Given the description of an element on the screen output the (x, y) to click on. 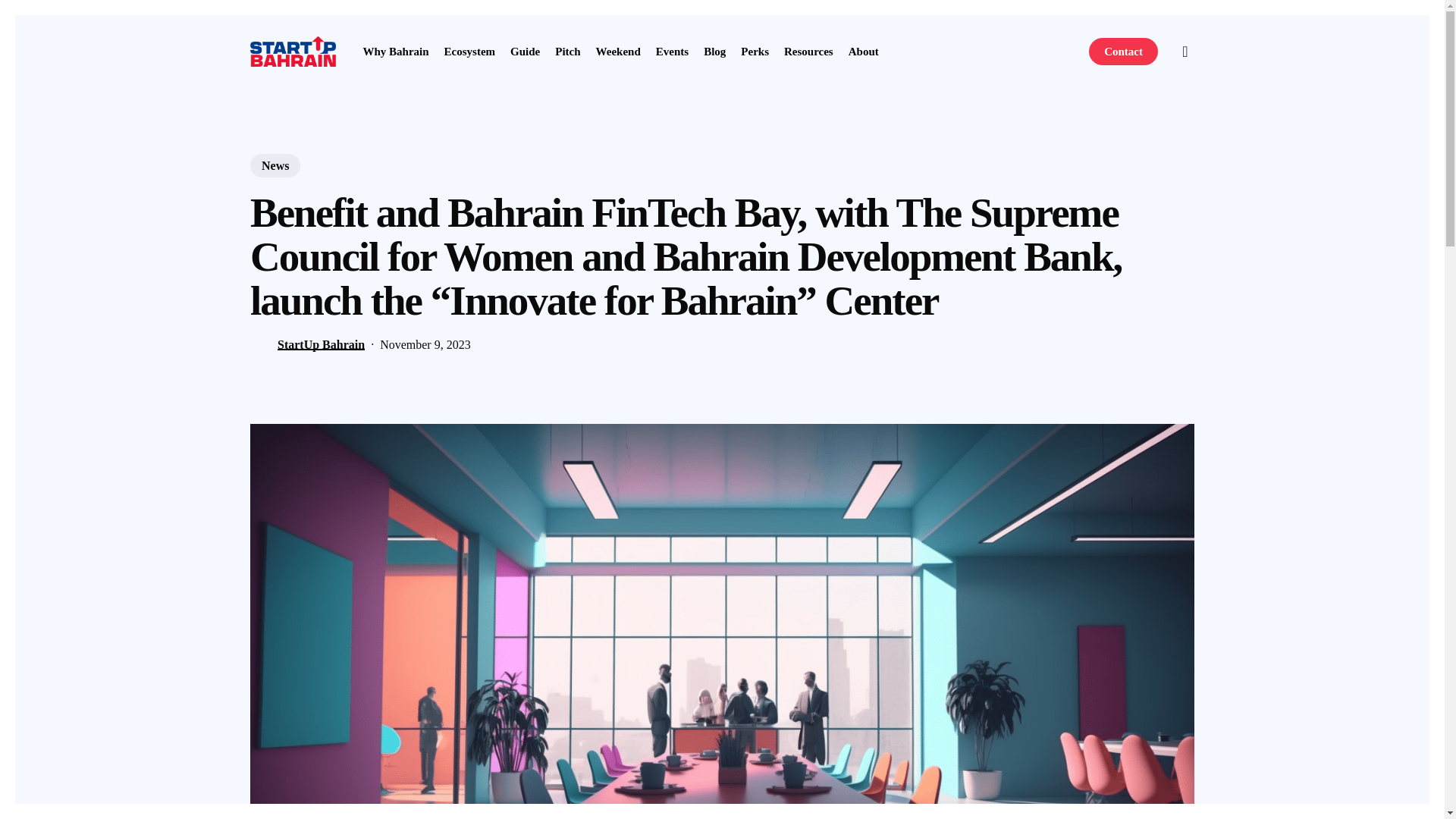
Blog (714, 50)
Contact (1123, 50)
News (274, 165)
Why Bahrain (395, 50)
Resources (808, 50)
About (863, 50)
Pitch (567, 50)
Posts by StartUp Bahrain (321, 344)
Guide (524, 50)
Weekend (617, 50)
search (1184, 51)
Perks (754, 50)
Ecosystem (469, 50)
StartUp Bahrain (321, 344)
Events (671, 50)
